Given the description of an element on the screen output the (x, y) to click on. 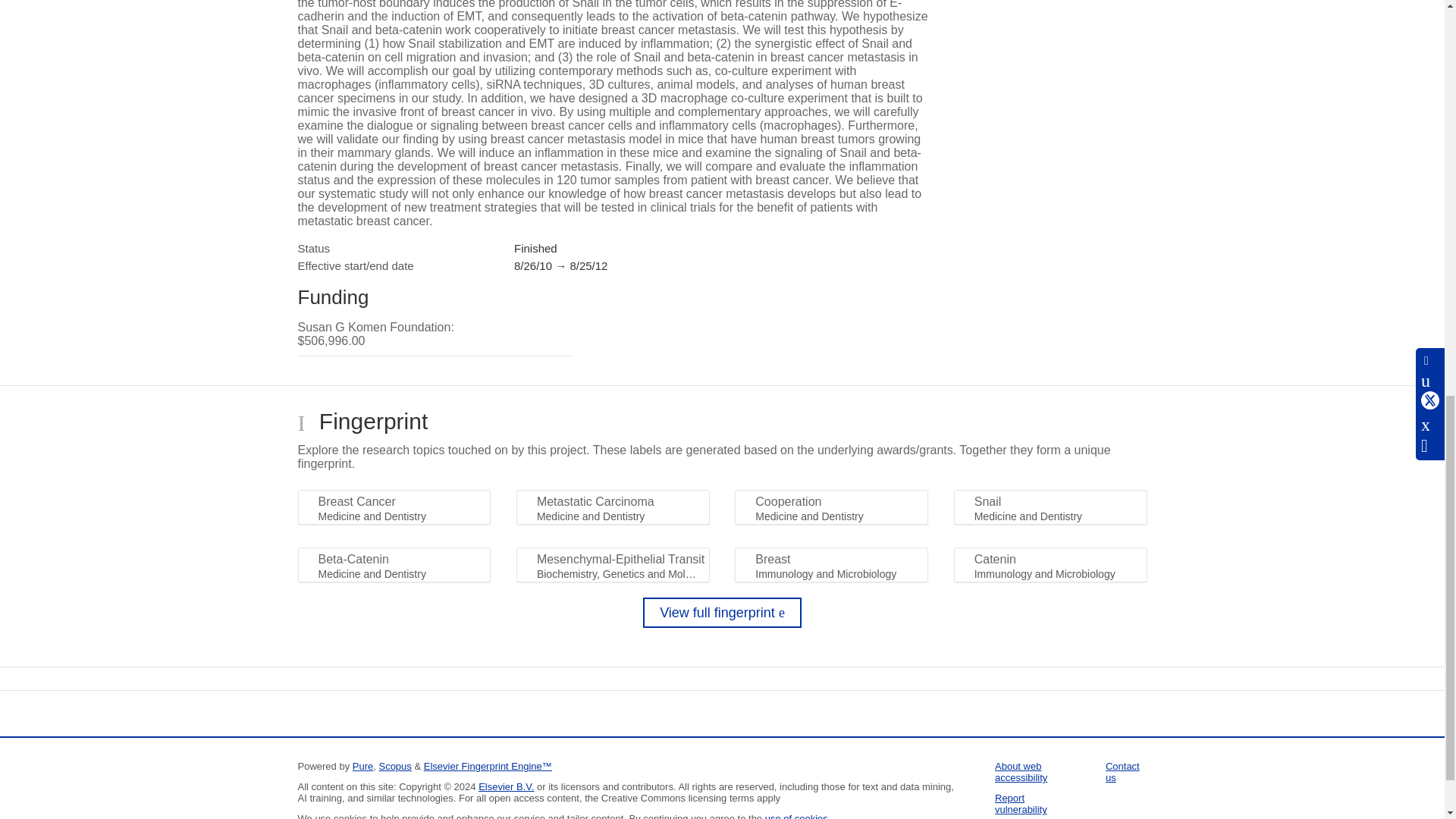
use of cookies (796, 816)
Pure (362, 766)
Scopus (394, 766)
View full fingerprint (722, 612)
Elsevier B.V. (506, 786)
